Given the description of an element on the screen output the (x, y) to click on. 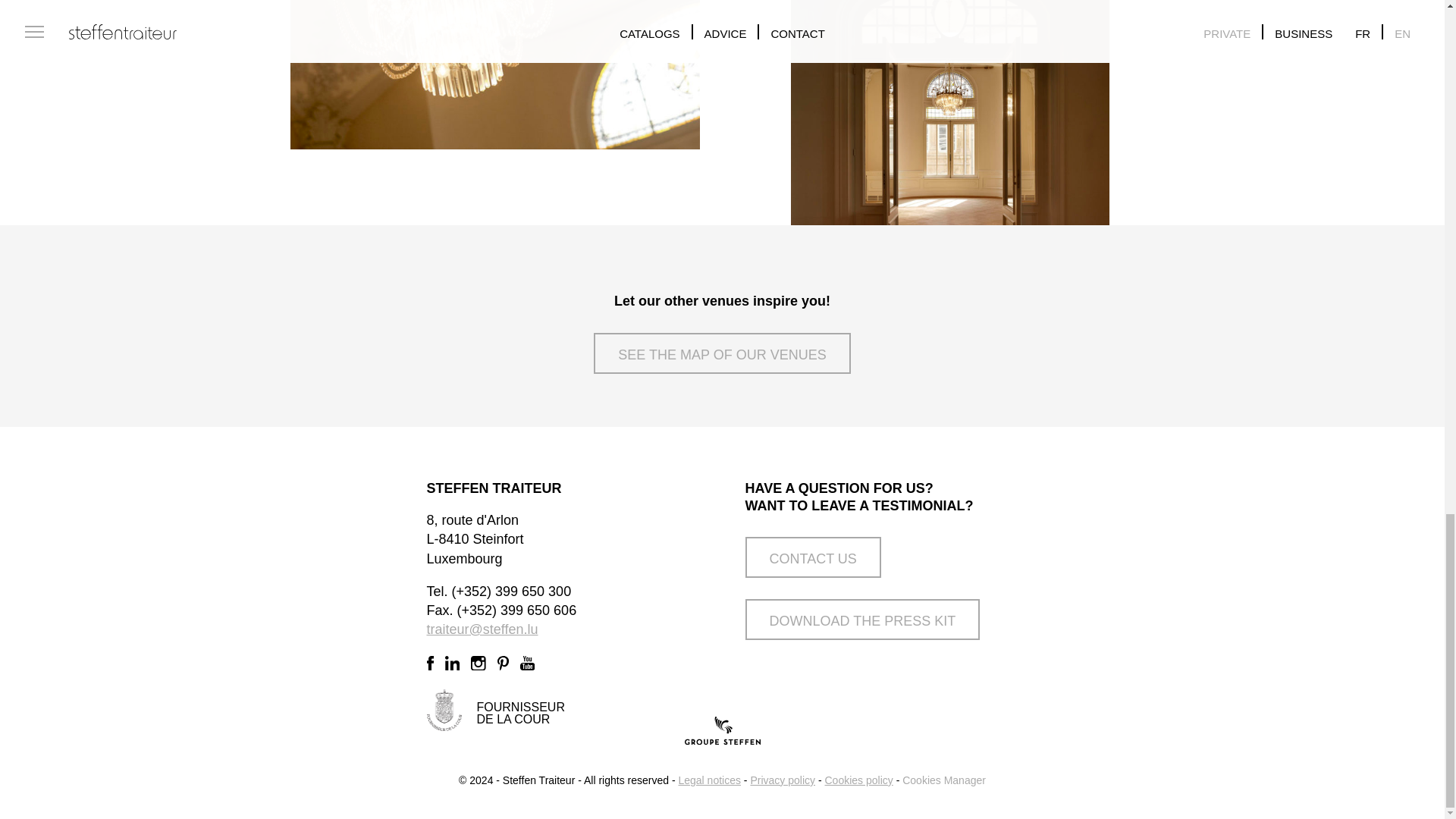
SEE THE MAP OF OUR VENUES (722, 352)
CONTACT US (812, 557)
DOWNLOAD THE PRESS KIT (861, 618)
